Given the description of an element on the screen output the (x, y) to click on. 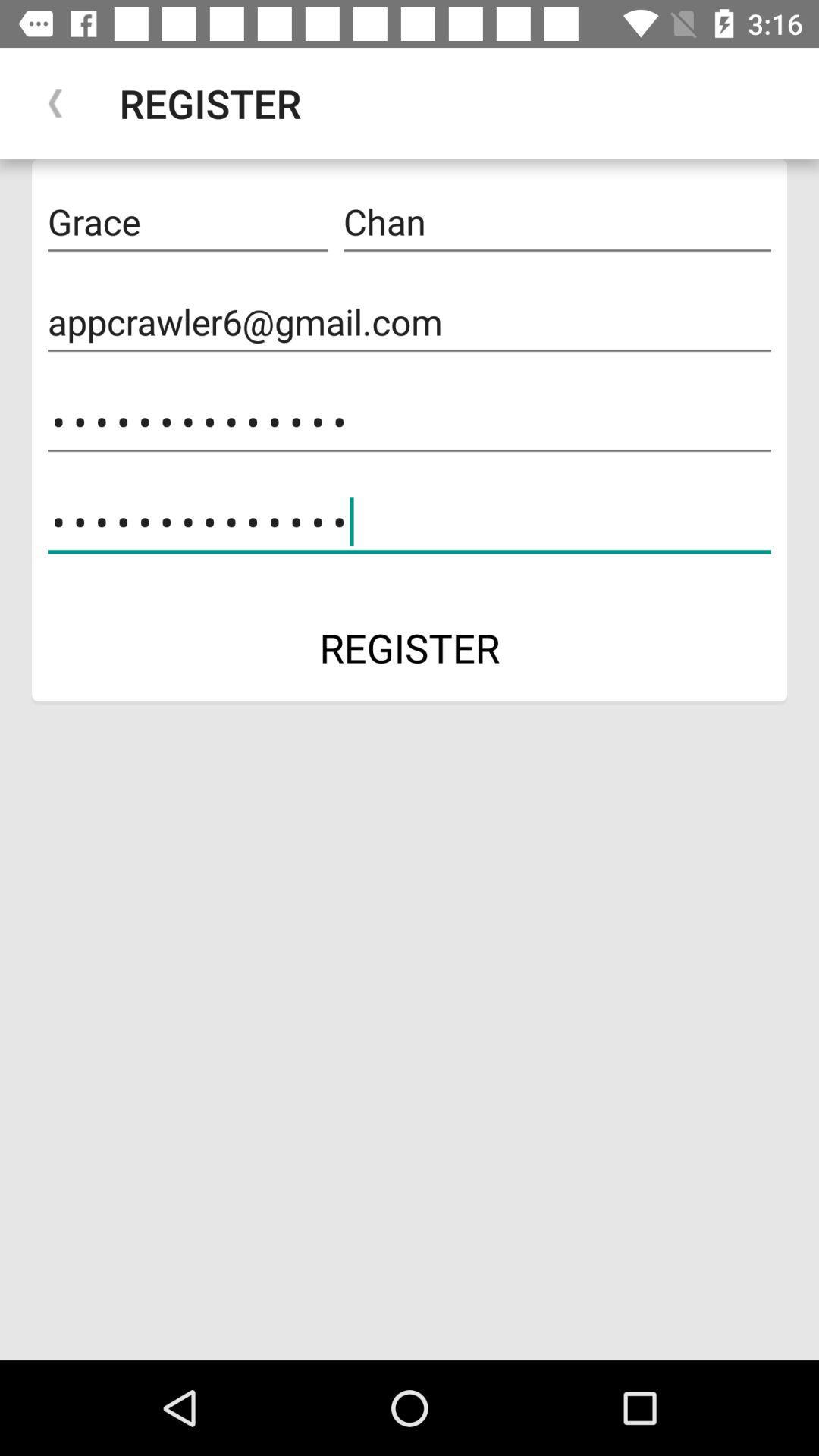
turn off the icon to the right of the grace (557, 222)
